Given the description of an element on the screen output the (x, y) to click on. 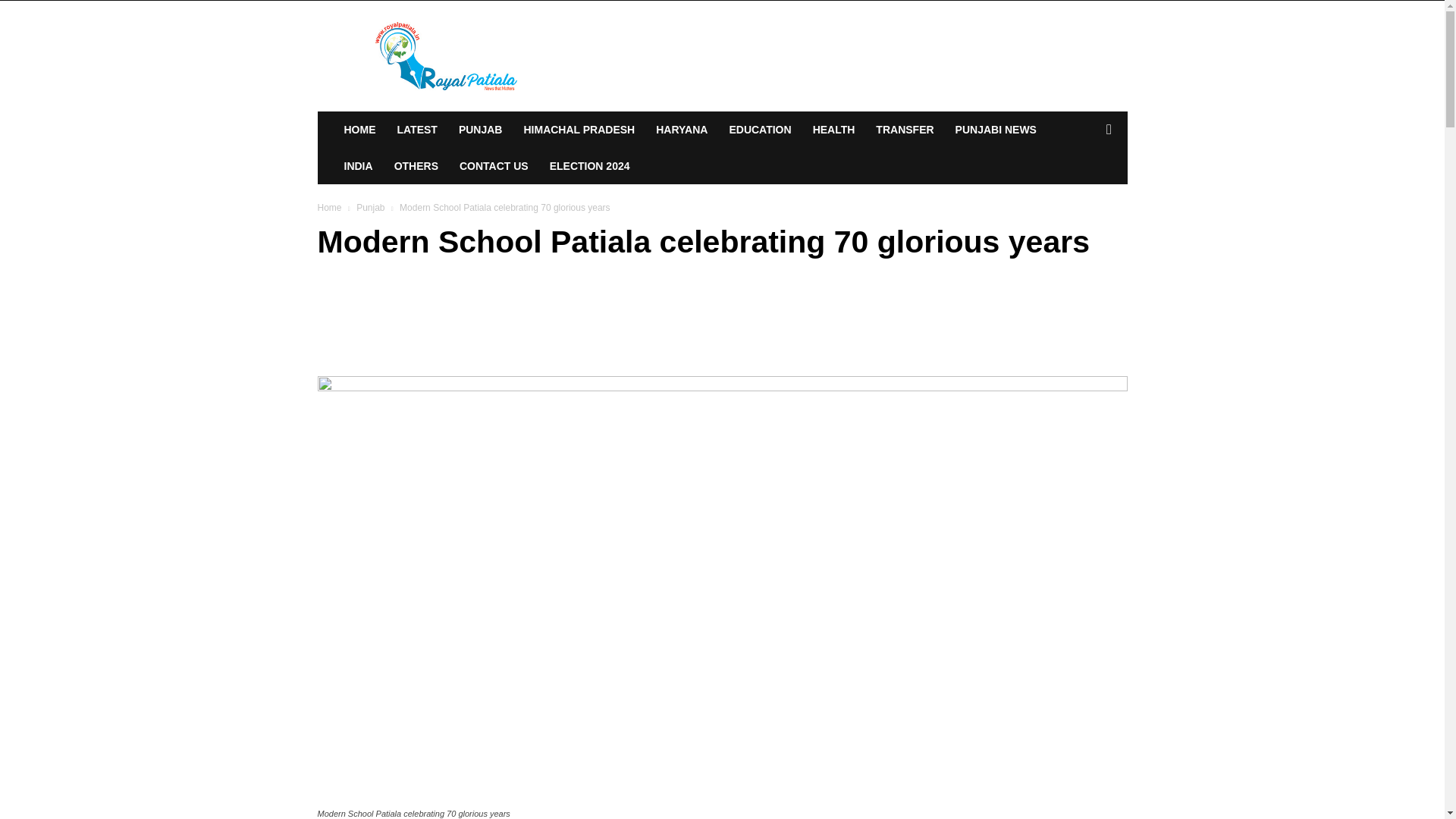
EDUCATION (759, 129)
TRANSFER (903, 129)
PUNJAB (480, 129)
INDIA (358, 166)
OTHERS (416, 166)
Home (328, 207)
HOME (360, 129)
HARYANA (681, 129)
ELECTION 2024 (589, 166)
View all posts in Punjab (370, 207)
